Given the description of an element on the screen output the (x, y) to click on. 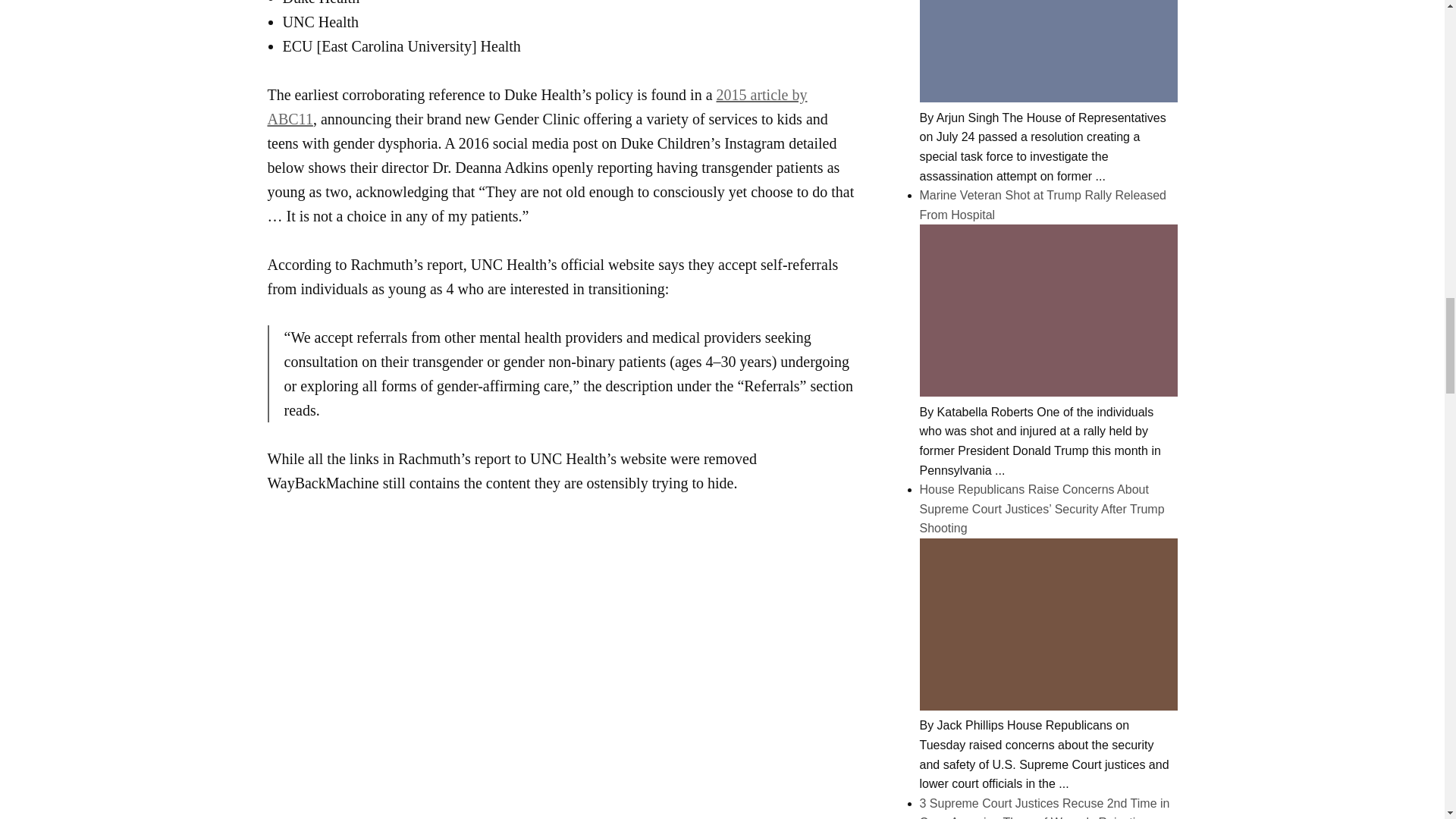
Marine Veteran Shot at Trump Rally Released From Hospital (1047, 391)
